Given the description of an element on the screen output the (x, y) to click on. 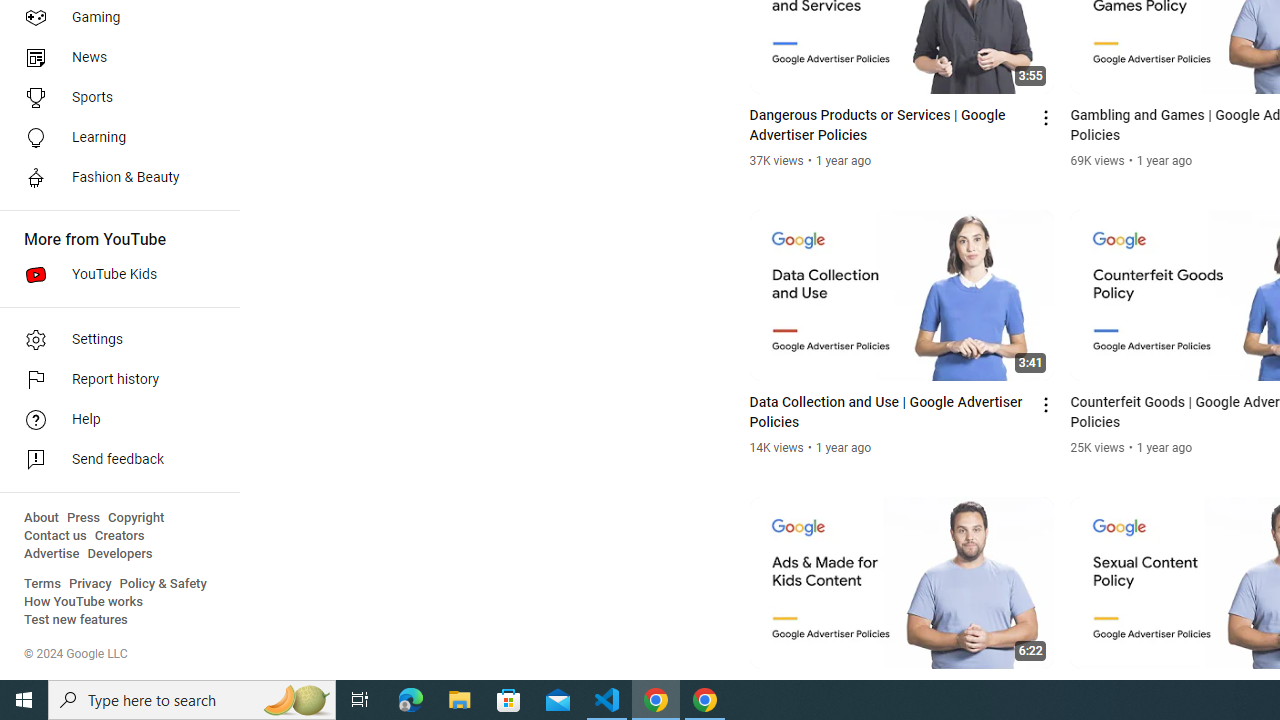
Policy & Safety (163, 584)
Fashion & Beauty (113, 177)
Contact us (55, 536)
Send feedback (113, 459)
Press (83, 518)
How YouTube works (83, 602)
Action menu (1046, 691)
Sports (113, 97)
YouTube Kids (113, 274)
Terms (42, 584)
About (41, 518)
Help (113, 419)
Copyright (136, 518)
Learning (113, 137)
